Given the description of an element on the screen output the (x, y) to click on. 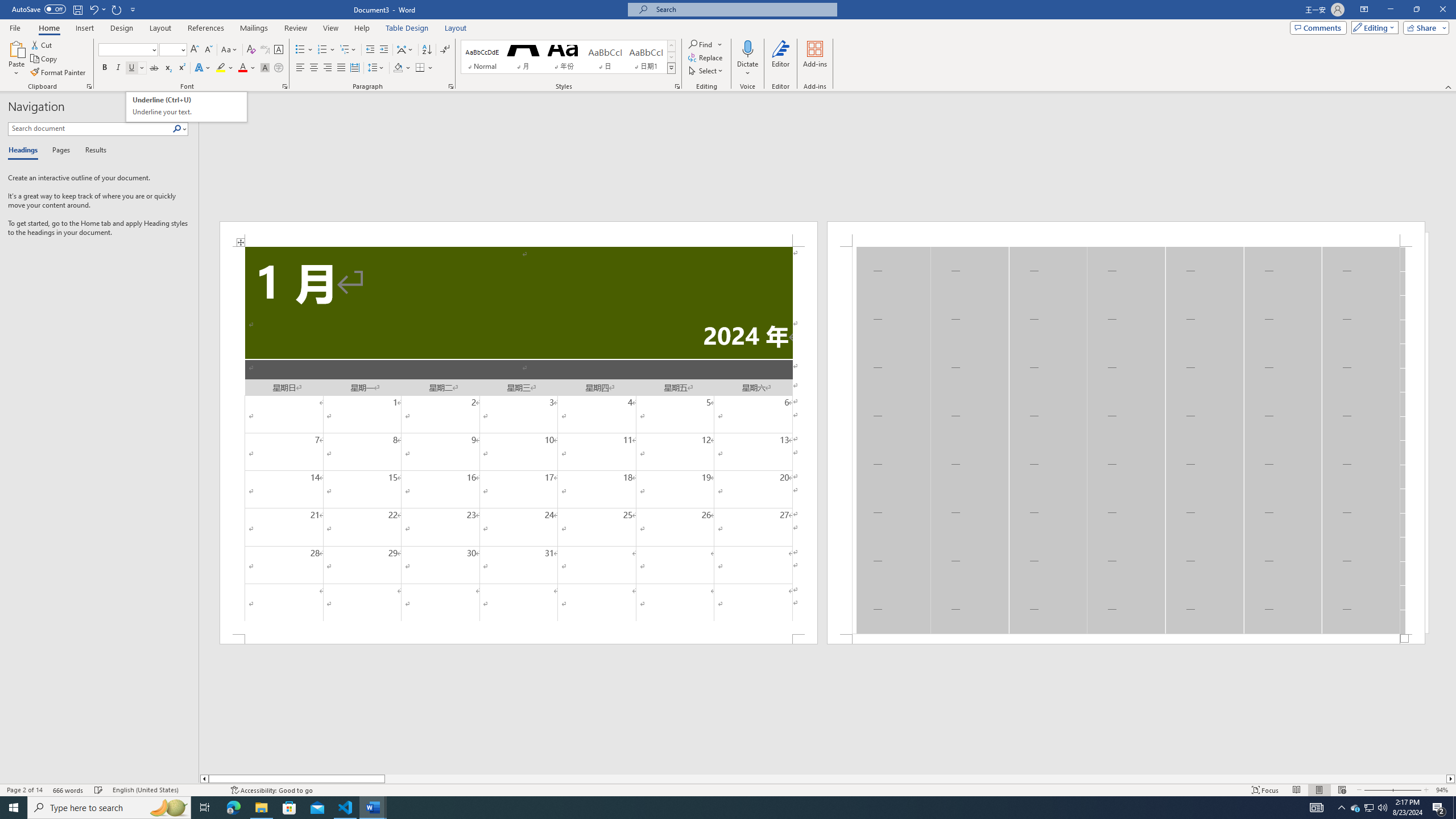
Font... (285, 85)
Office Clipboard... (88, 85)
Subscript (167, 67)
Superscript (180, 67)
Shading (186, 106)
Decrease Indent (402, 67)
Page 2 content (370, 49)
Text Highlight Color (1126, 439)
Distributed (224, 67)
